Given the description of an element on the screen output the (x, y) to click on. 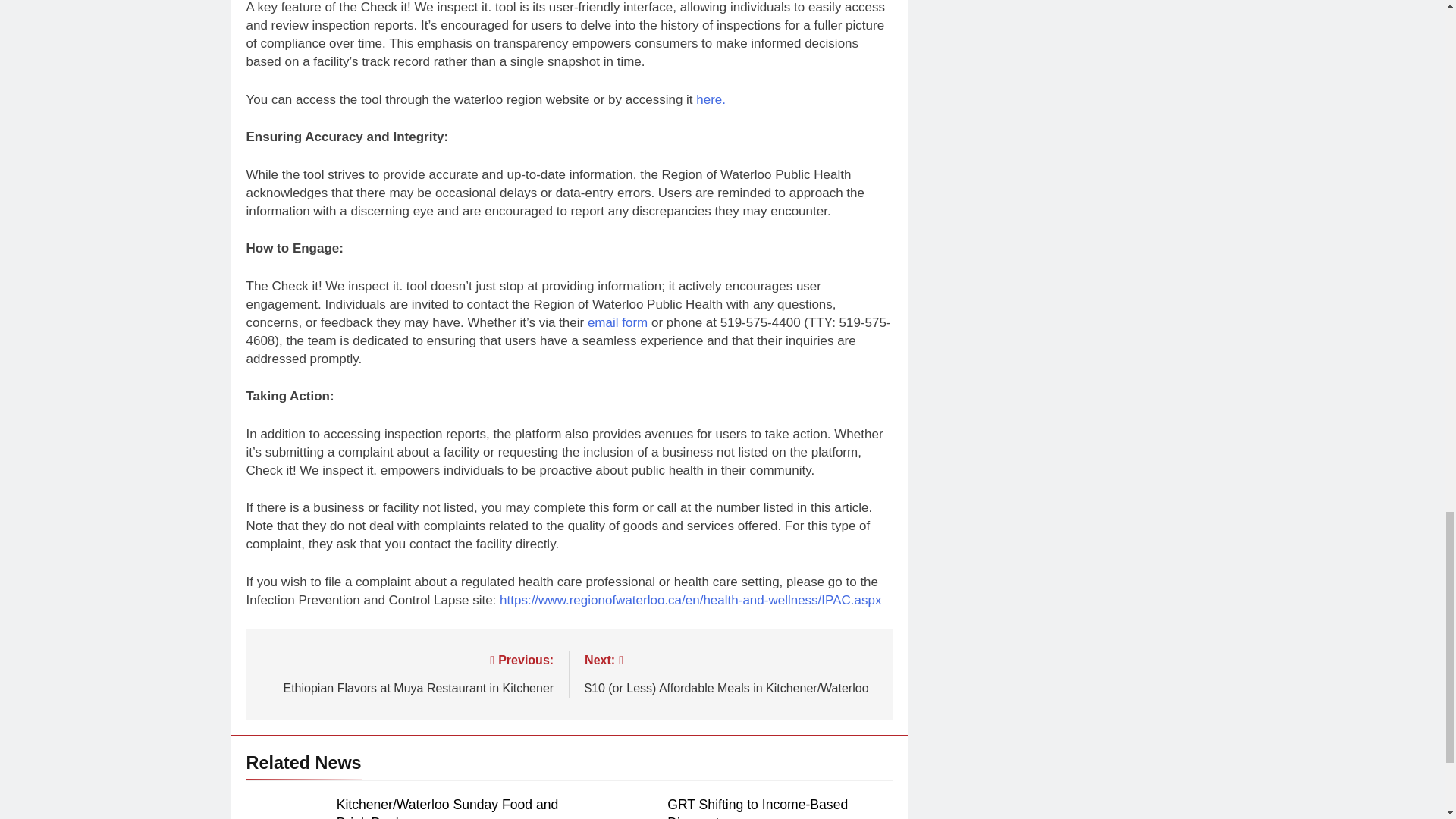
GRT Shifting to Income-Based Discounts (406, 672)
email form (756, 807)
here. (617, 322)
